Given the description of an element on the screen output the (x, y) to click on. 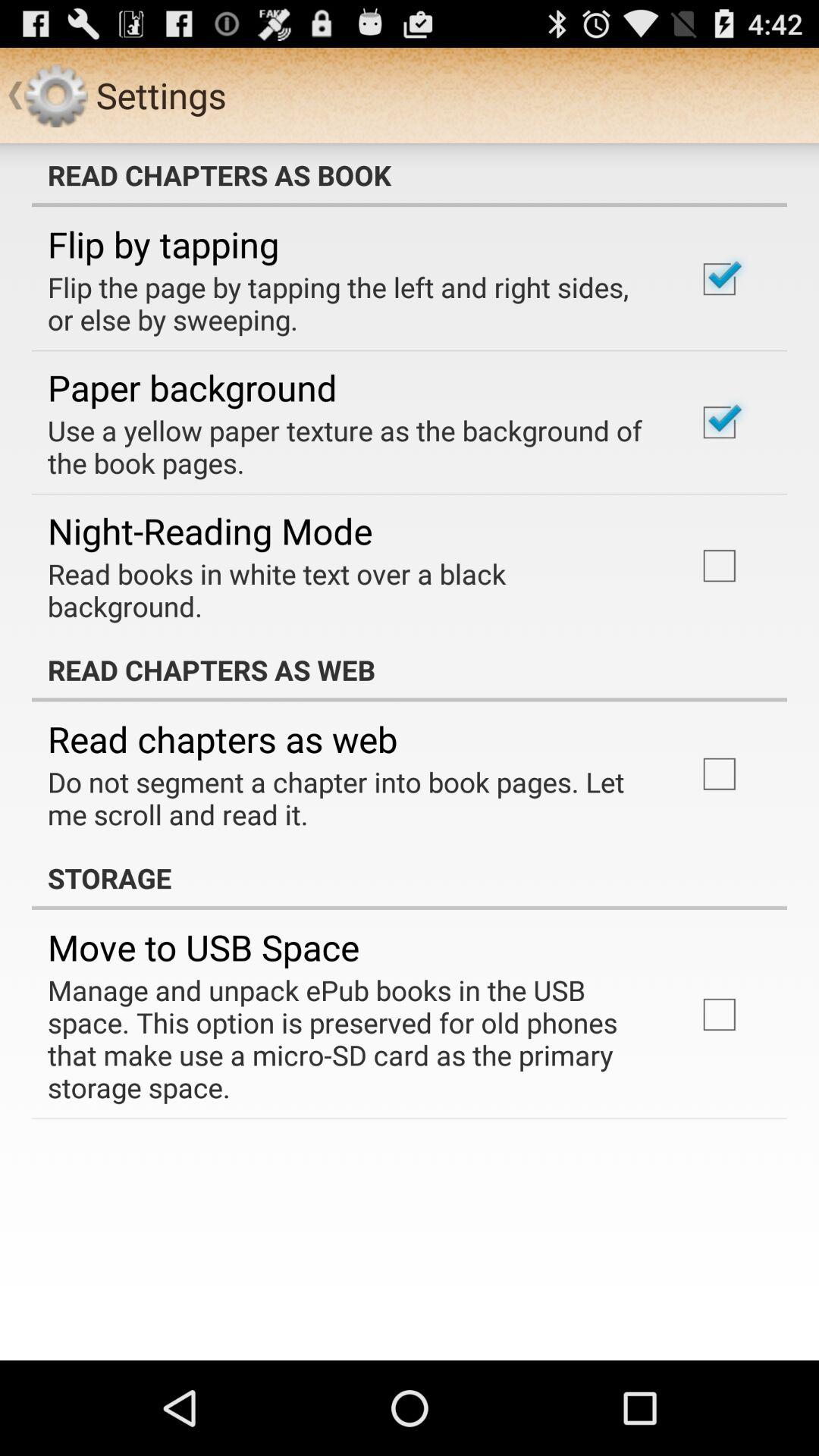
flip until the move to usb (203, 947)
